Given the description of an element on the screen output the (x, y) to click on. 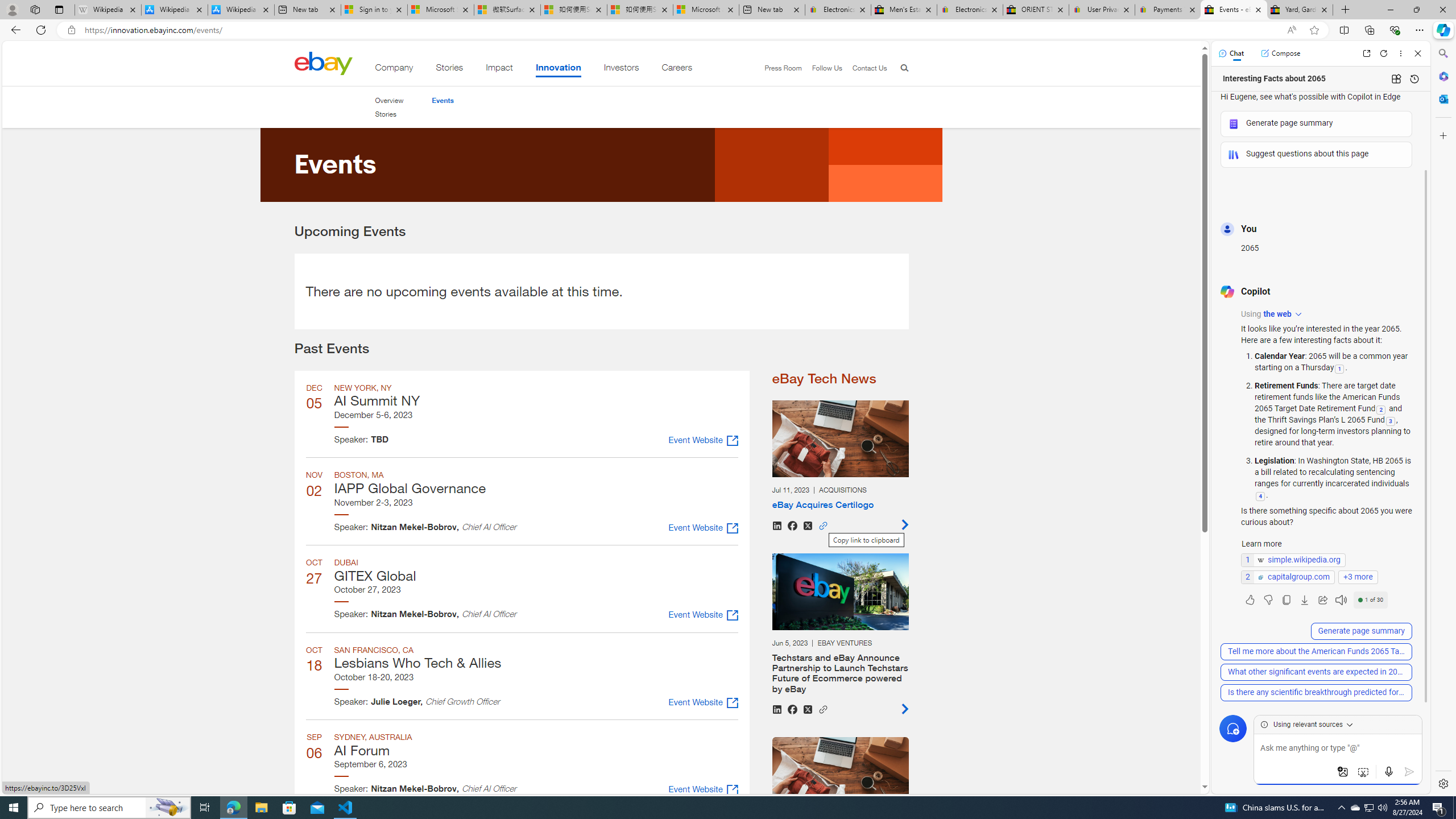
Follow Us (826, 67)
Class: desktop (323, 63)
Overview (388, 100)
Contact Us (868, 67)
